Given the description of an element on the screen output the (x, y) to click on. 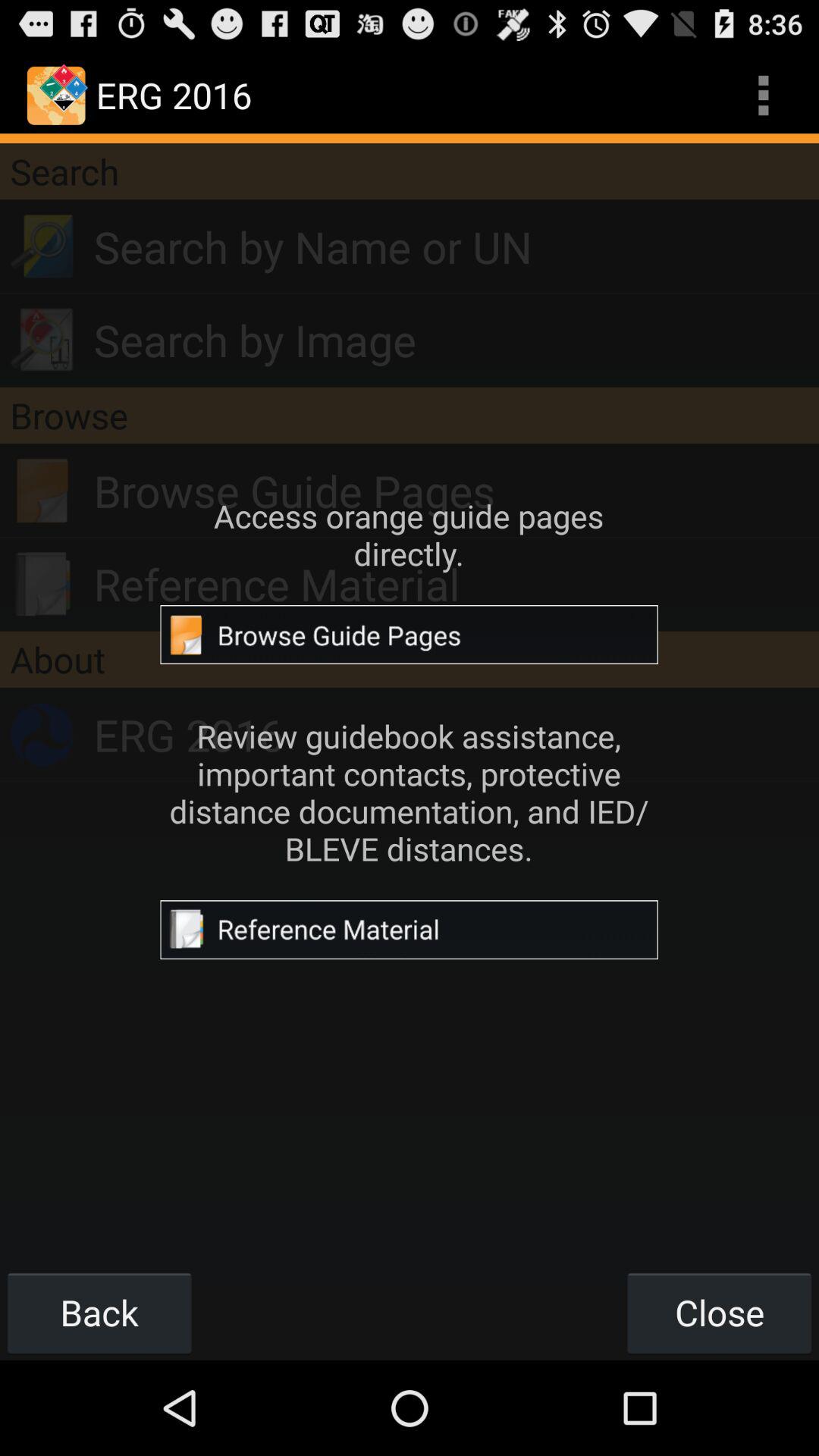
press icon at the top right corner (763, 95)
